Given the description of an element on the screen output the (x, y) to click on. 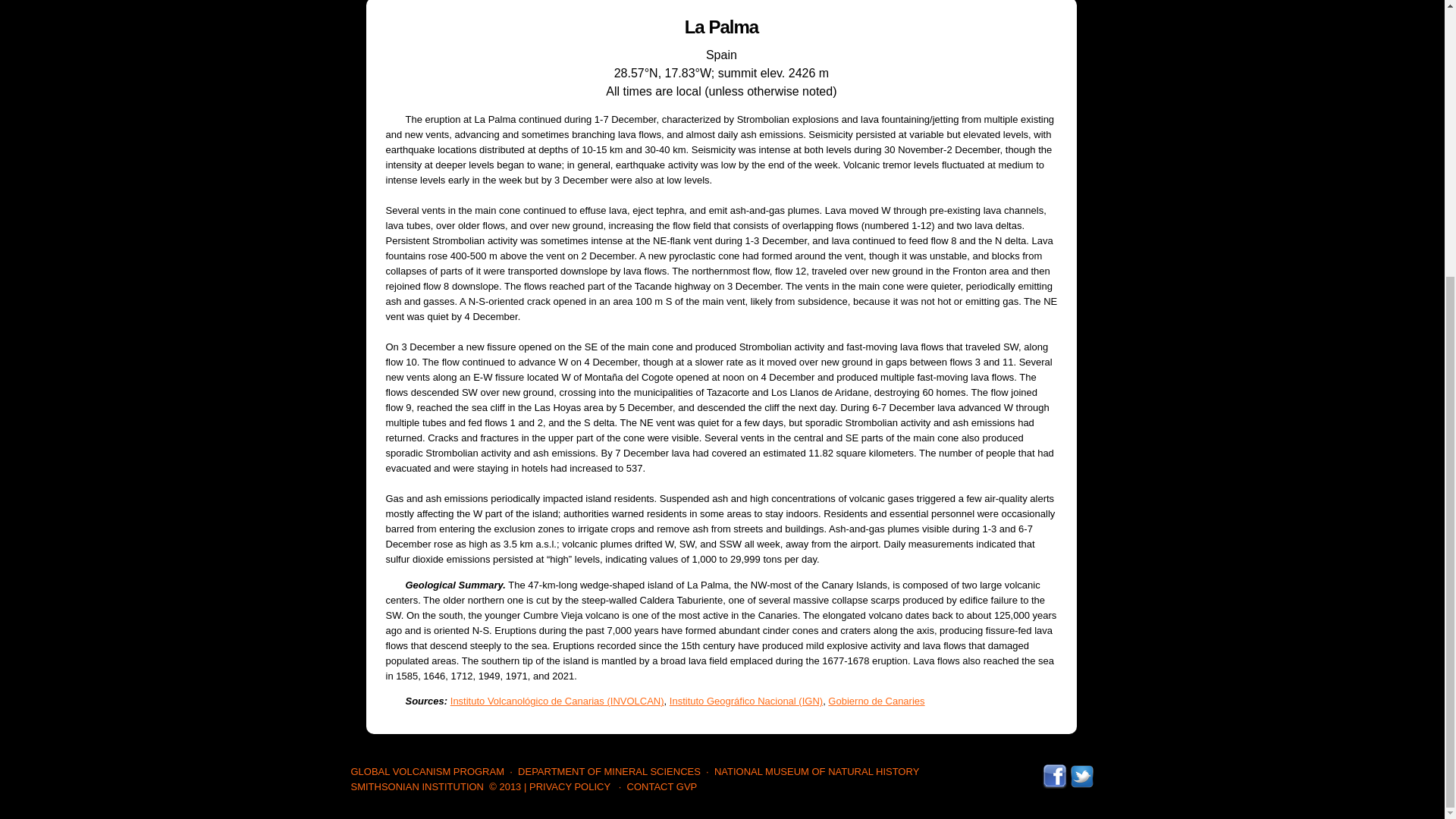
Twitter (1080, 771)
Link to Privacy Notice (569, 786)
Facebook (1054, 771)
Link to Copyright Notice (505, 786)
Send email to GVP (662, 786)
